Given the description of an element on the screen output the (x, y) to click on. 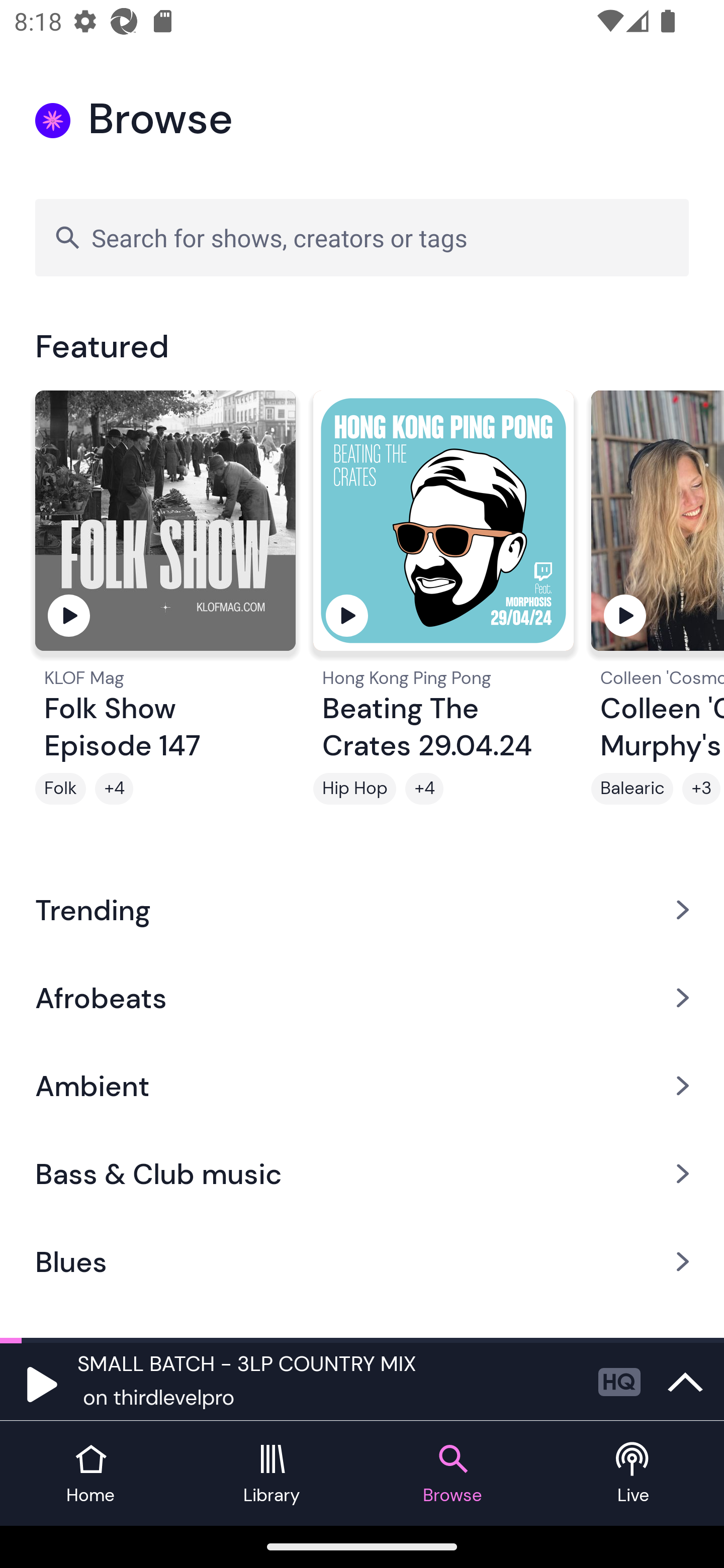
Search for shows, creators or tags (361, 237)
Folk (60, 788)
Hip Hop (354, 788)
Balearic (632, 788)
Trending (361, 909)
Afrobeats (361, 997)
Ambient (361, 1085)
Bass & Club music (361, 1174)
Blues (361, 1262)
Home tab Home (90, 1473)
Library tab Library (271, 1473)
Browse tab Browse (452, 1473)
Live tab Live (633, 1473)
